Given the description of an element on the screen output the (x, y) to click on. 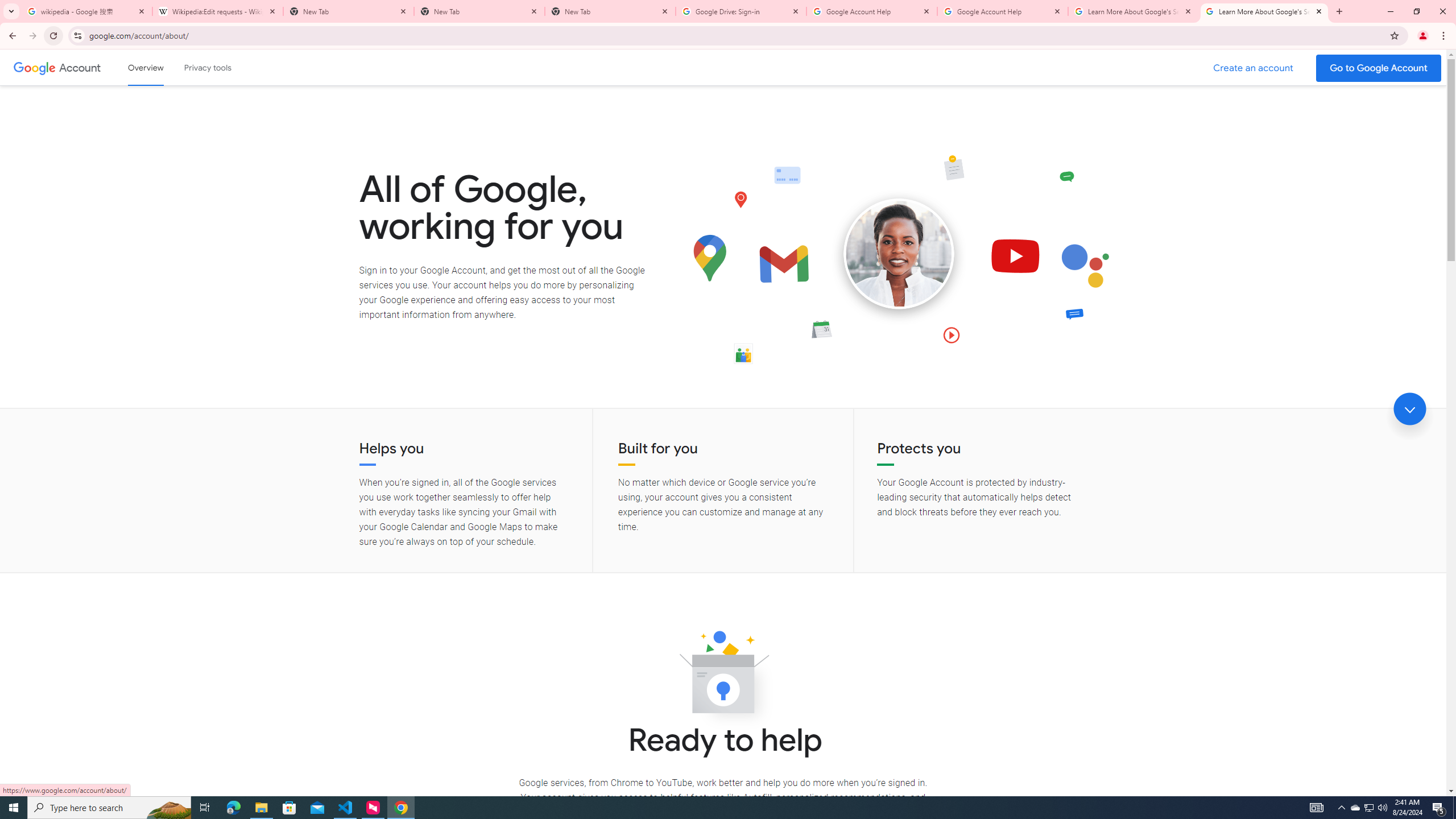
Wikipedia:Edit requests - Wikipedia (217, 11)
Google Drive: Sign-in (740, 11)
Create a Google Account (1253, 67)
Google Account (80, 67)
Google logo (34, 67)
Google Account overview (145, 67)
Skip to Content (162, 65)
